Given the description of an element on the screen output the (x, y) to click on. 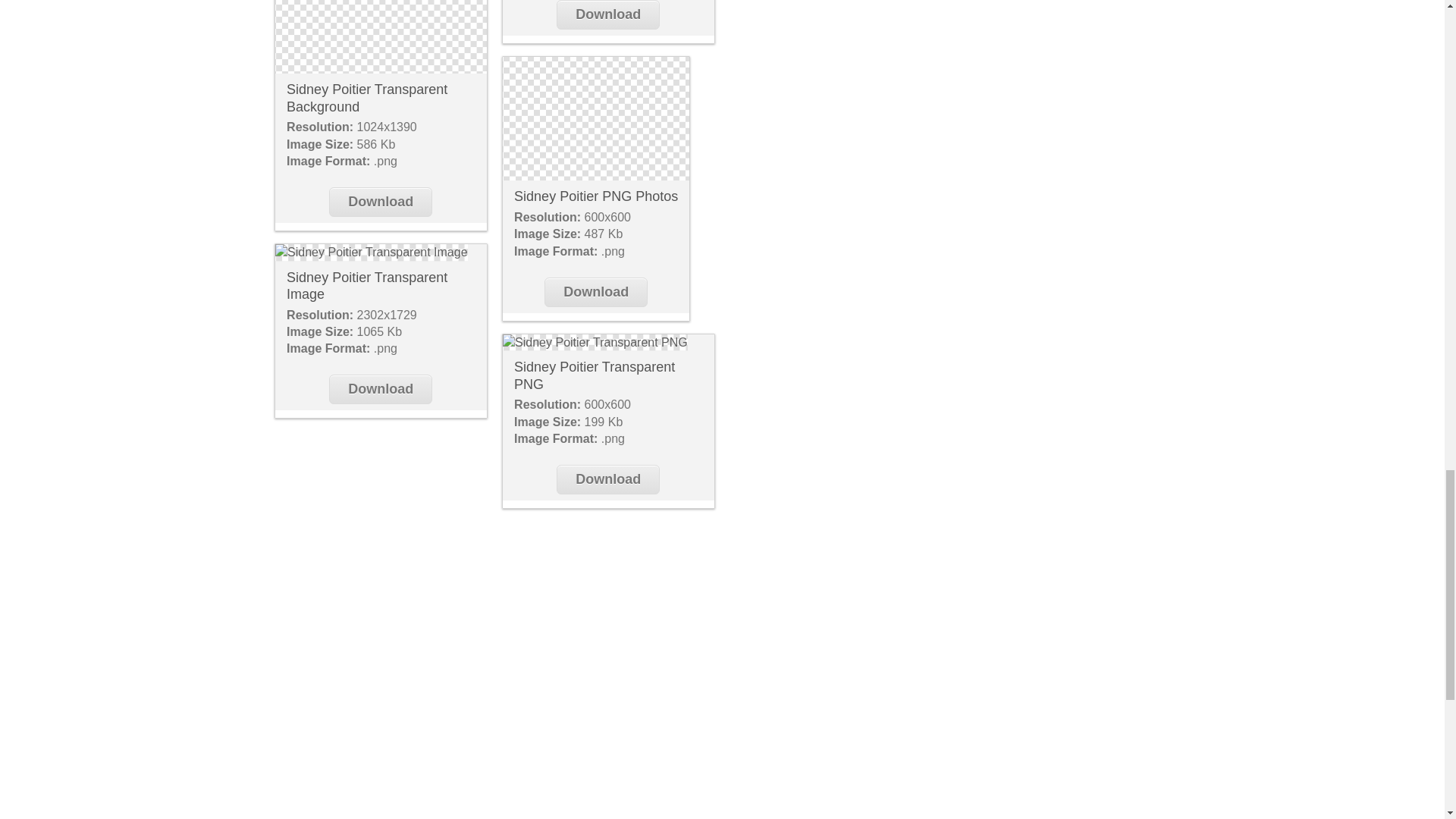
Sidney Poitier Transparent Image (366, 286)
Sidney Poitier PNG Photos (595, 196)
Sidney Poitier Transparent Background (380, 36)
Sidney Poitier Transparent Image (371, 252)
Download (380, 202)
Download (607, 14)
Download (595, 292)
Download (380, 389)
Advertisement (721, 803)
Sidney Poitier PNG Photos (595, 118)
Sidney Poitier Transparent PNG (594, 375)
Sidney Poitier Transparent Background (366, 97)
Sidney Poitier Transparent PNG (594, 342)
